Given the description of an element on the screen output the (x, y) to click on. 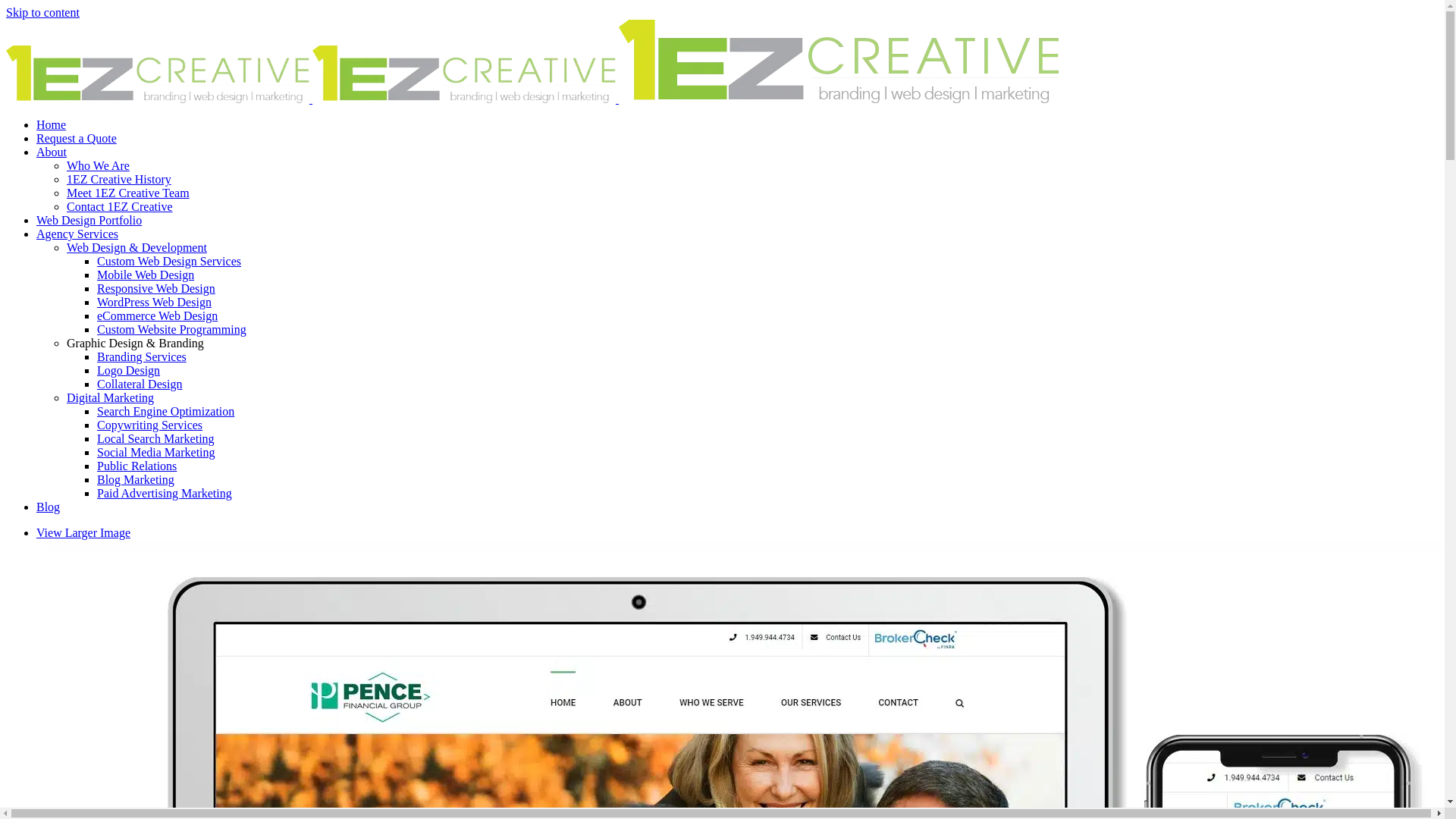
Blog Element type: text (47, 506)
Branding Services Element type: text (141, 356)
Contact 1EZ Creative Element type: text (119, 206)
Agency Services Element type: text (77, 233)
Responsive Web Design Element type: text (156, 288)
Mobile Web Design Element type: text (145, 274)
Request a Quote Element type: text (76, 137)
About Element type: text (51, 151)
Custom Web Design Services Element type: text (169, 260)
eCommerce Web Design Element type: text (157, 315)
Skip to content Element type: text (42, 12)
Social Media Marketing Element type: text (156, 451)
Logo Design Element type: text (128, 370)
Web Design Portfolio Element type: text (88, 219)
WordPress Web Design Element type: text (154, 301)
Collateral Design Element type: text (139, 383)
Search Engine Optimization Element type: text (165, 410)
Custom Website Programming Element type: text (171, 329)
Blog Marketing Element type: text (135, 479)
Web Design & Development Element type: text (136, 247)
1EZ Creative History Element type: text (118, 178)
Local Search Marketing Element type: text (155, 438)
Copywriting Services Element type: text (149, 424)
Who We Are Element type: text (97, 165)
Home Element type: text (50, 124)
Public Relations Element type: text (136, 465)
Paid Advertising Marketing Element type: text (164, 492)
Meet 1EZ Creative Team Element type: text (127, 192)
Digital Marketing Element type: text (109, 397)
